Given the description of an element on the screen output the (x, y) to click on. 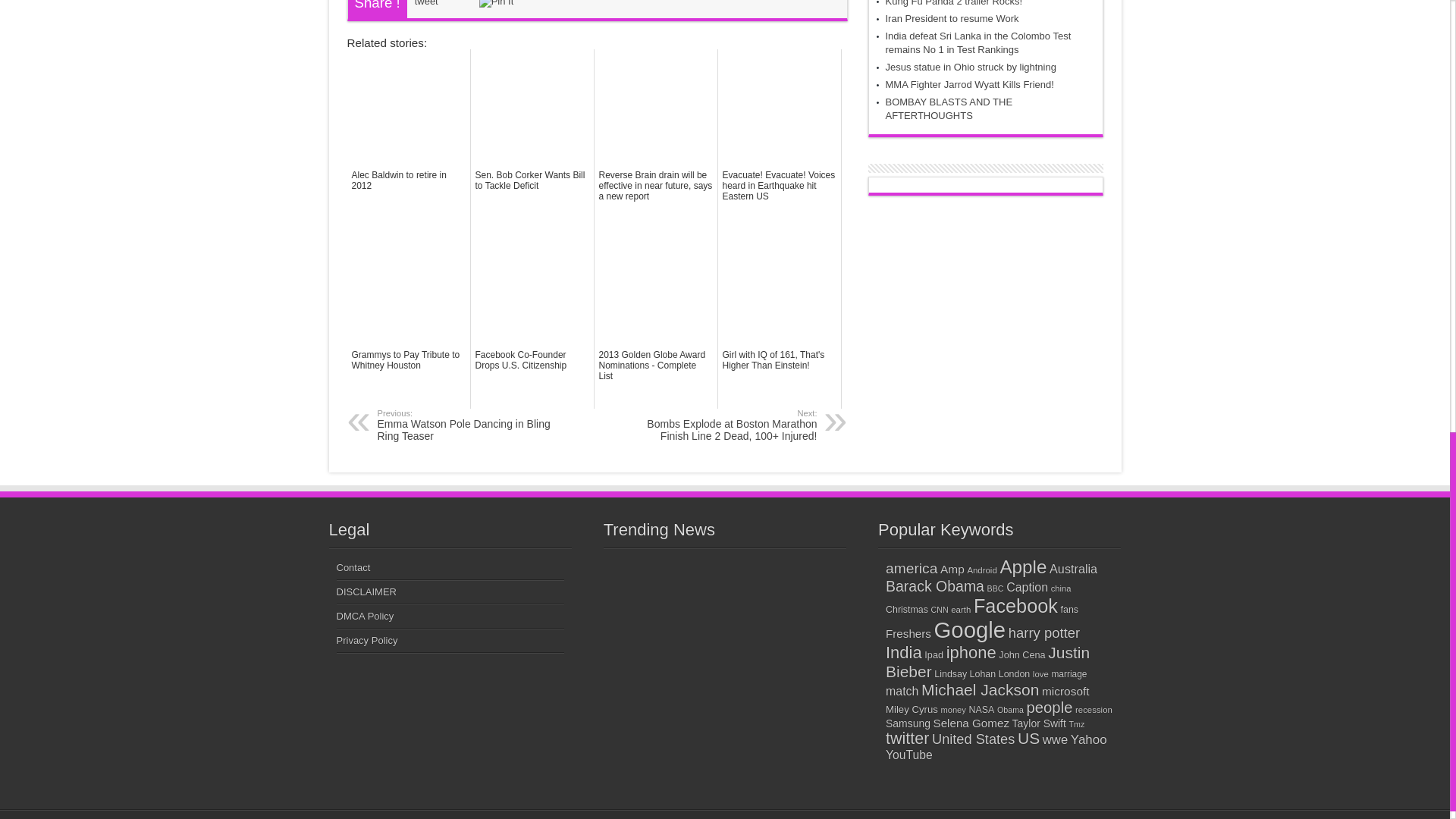
Kung Fu Panda 2 trailer Rocks! (954, 3)
Pin It (496, 3)
